Given the description of an element on the screen output the (x, y) to click on. 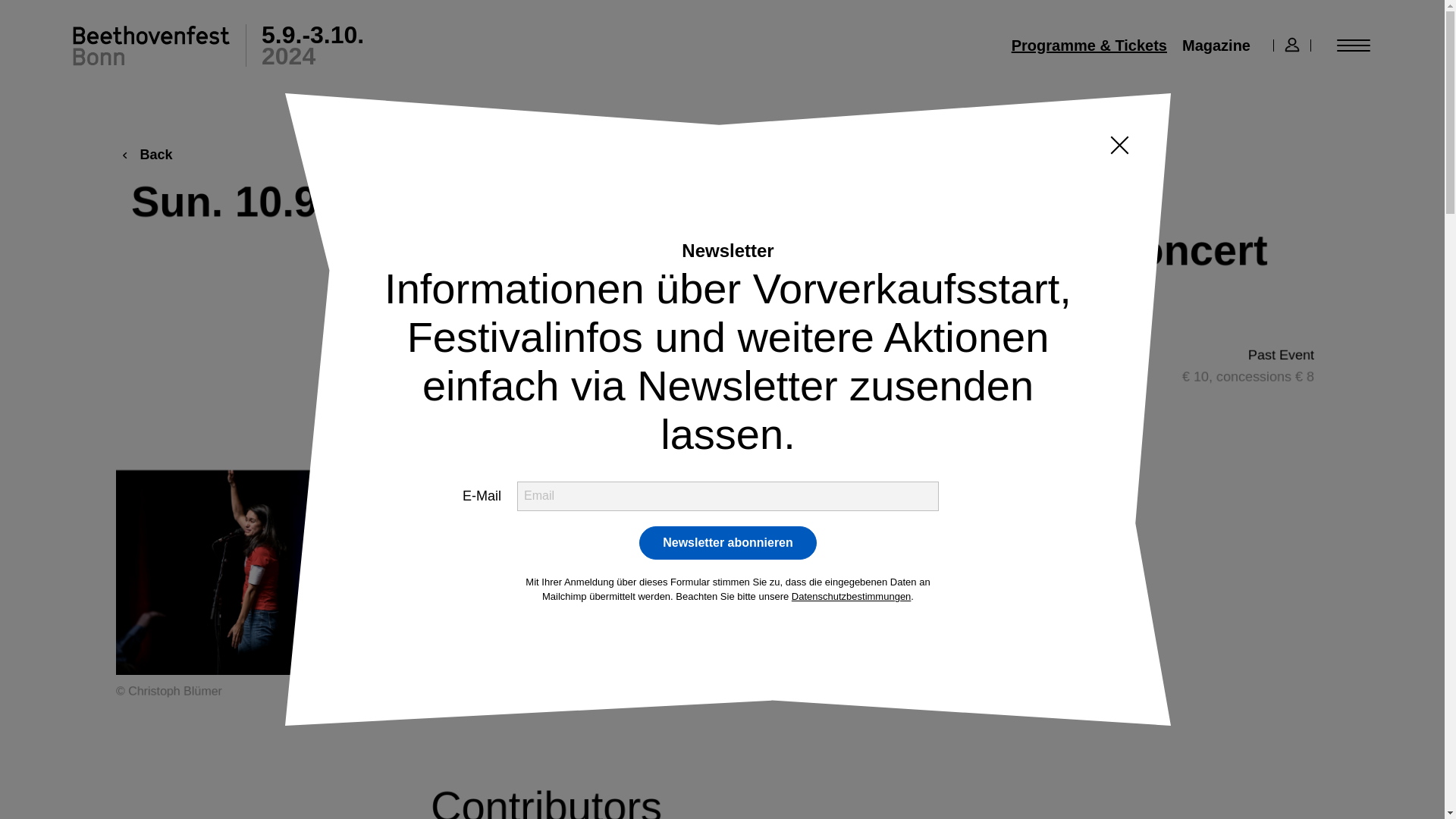
Magazine (1216, 45)
Back (143, 155)
Homepage (218, 45)
Magazine (1216, 45)
My Account (1291, 45)
Back (143, 155)
Open Menu (1353, 45)
